Given the description of an element on the screen output the (x, y) to click on. 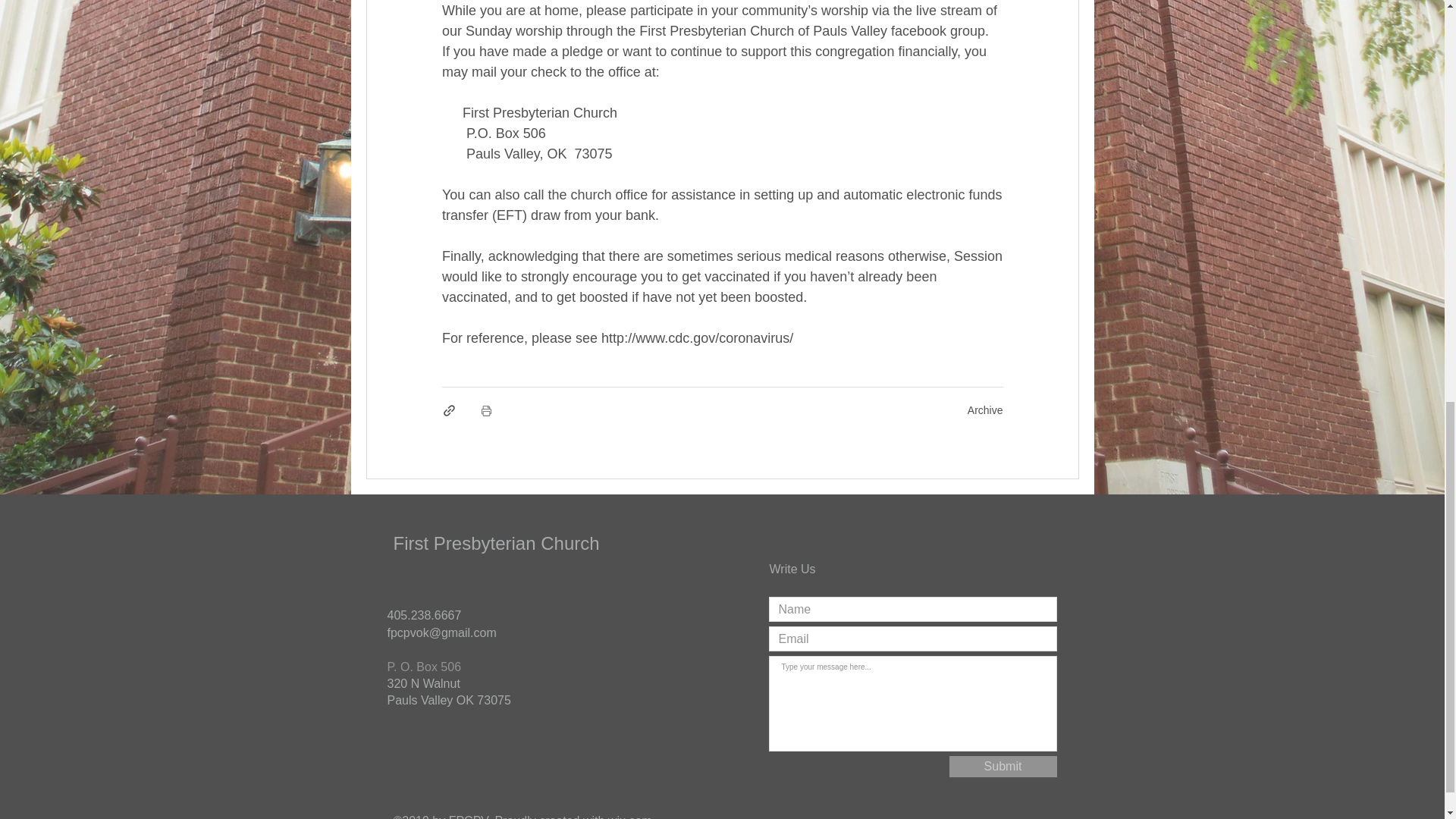
Submit (1003, 766)
wix.com (630, 816)
Archive (985, 409)
